Given the description of an element on the screen output the (x, y) to click on. 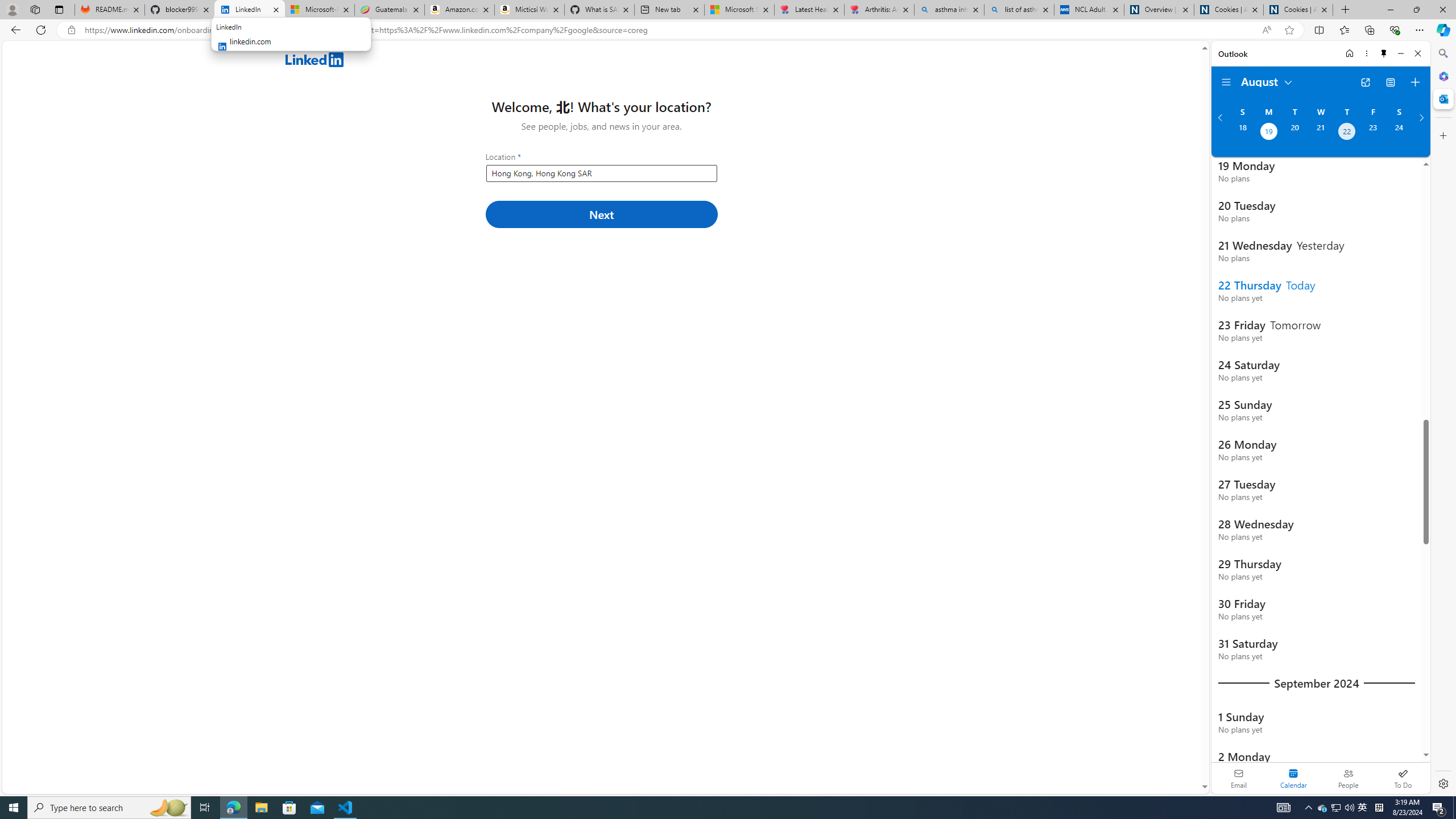
Monday, August 19, 2024. Date selected.  (1268, 132)
Tuesday, August 20, 2024.  (1294, 132)
Wednesday, August 21, 2024.  (1320, 132)
To Do (1402, 777)
